Given the description of an element on the screen output the (x, y) to click on. 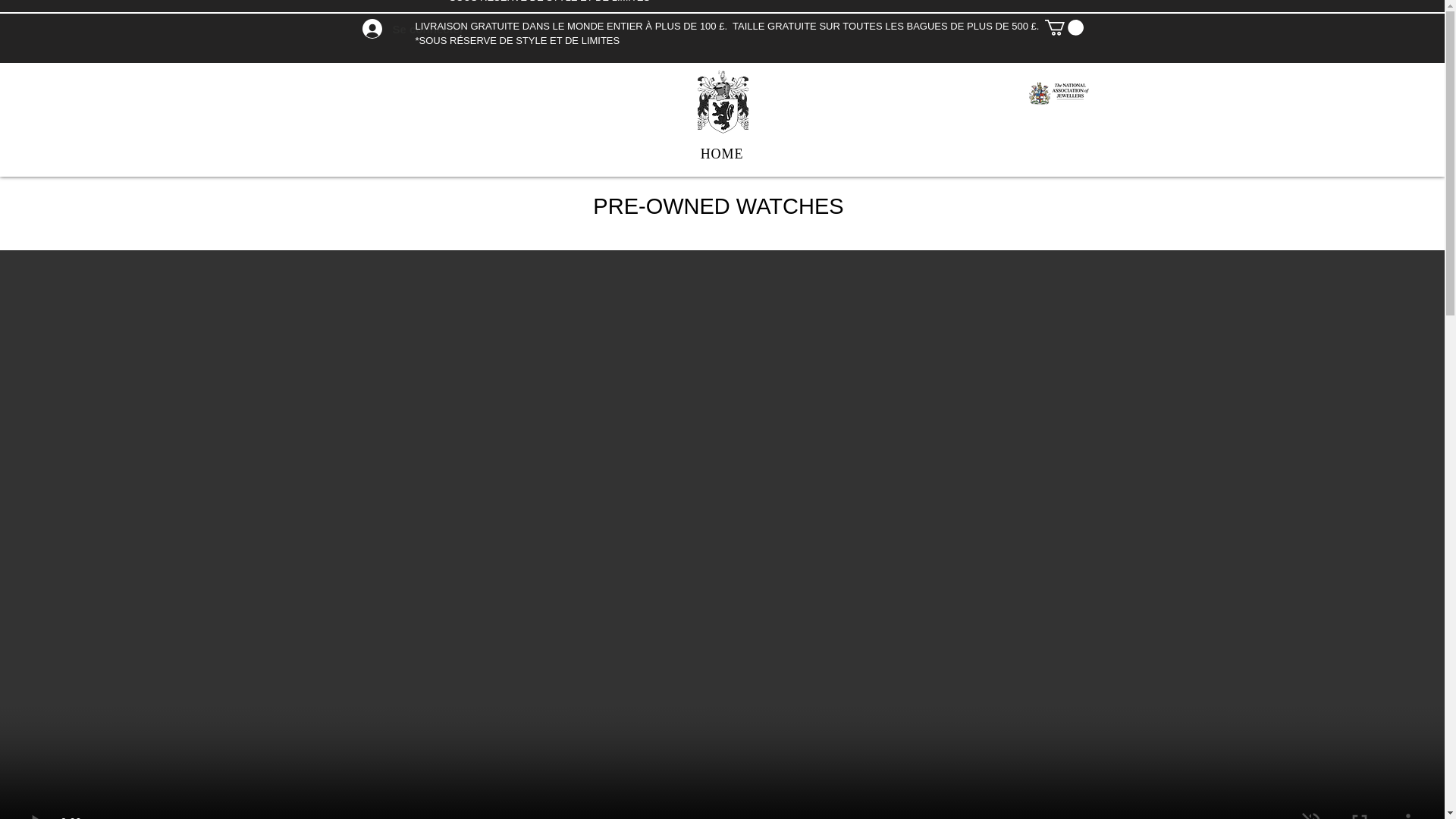
Se connecter (378, 28)
HOME (722, 154)
